Given the description of an element on the screen output the (x, y) to click on. 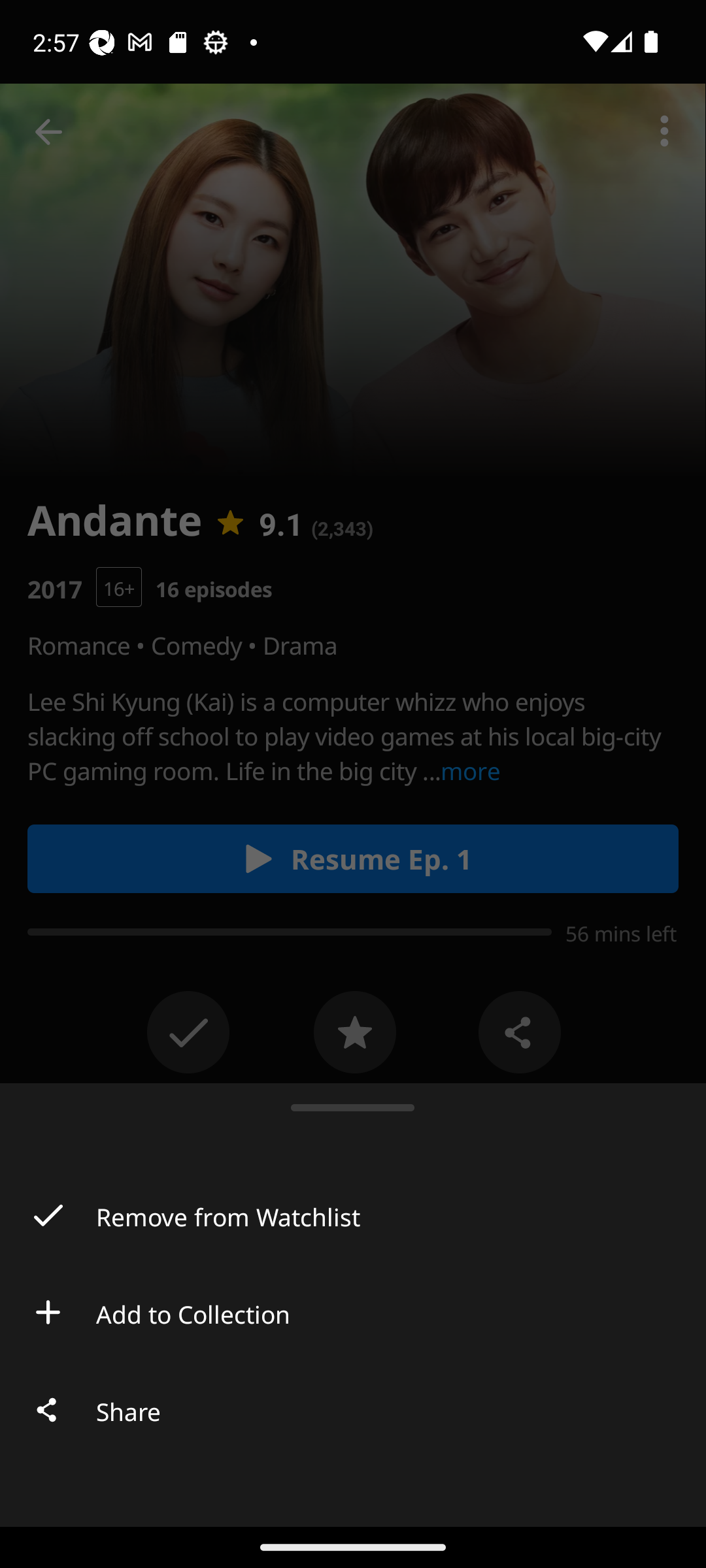
Remove from Watchlist (353, 1214)
Add to Collection (353, 1312)
Share (353, 1409)
